Given the description of an element on the screen output the (x, y) to click on. 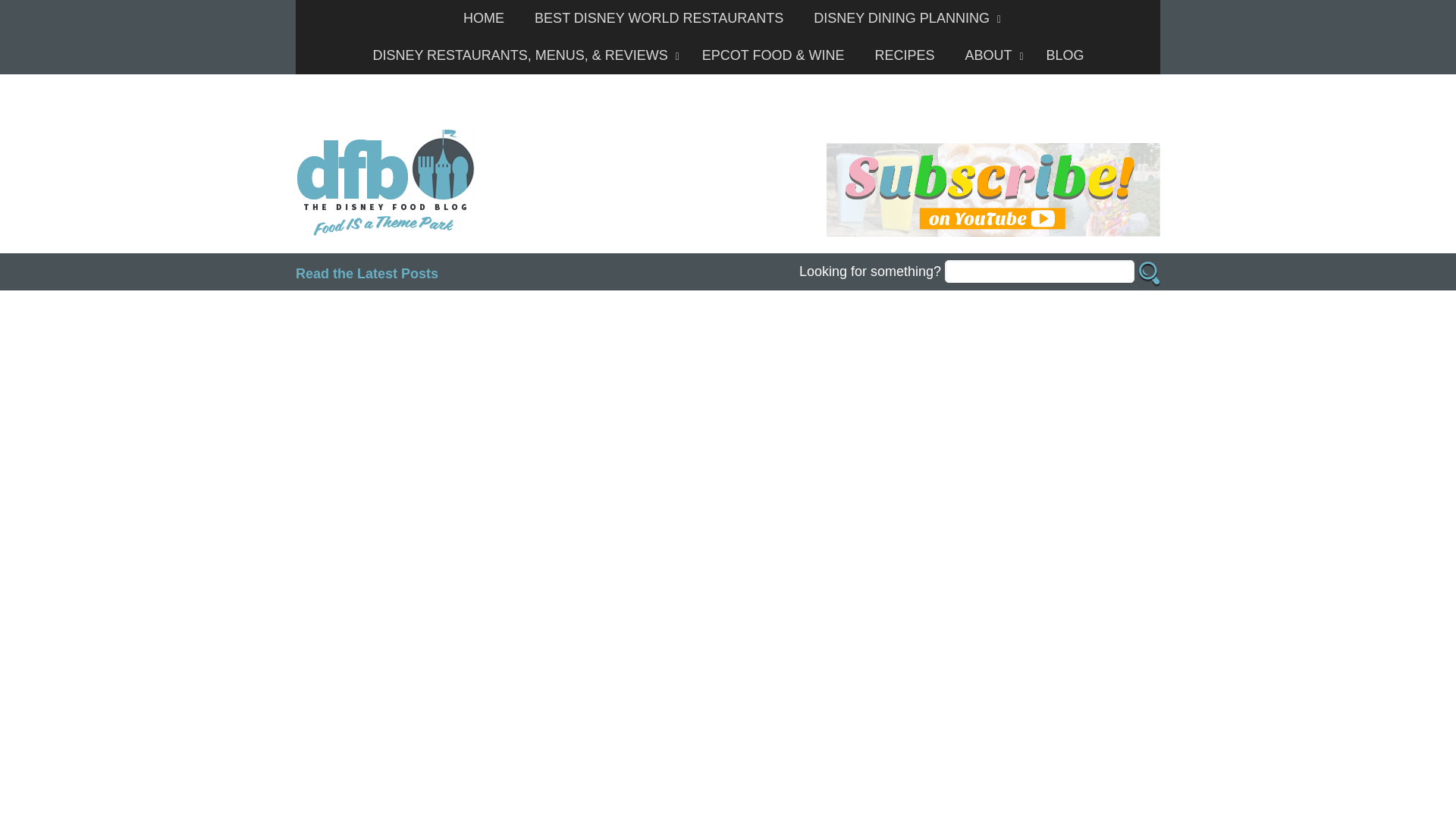
BEST DISNEY WORLD RESTAURANTS (658, 18)
HOME (483, 18)
DISNEY DINING PLANNING (903, 18)
